Given the description of an element on the screen output the (x, y) to click on. 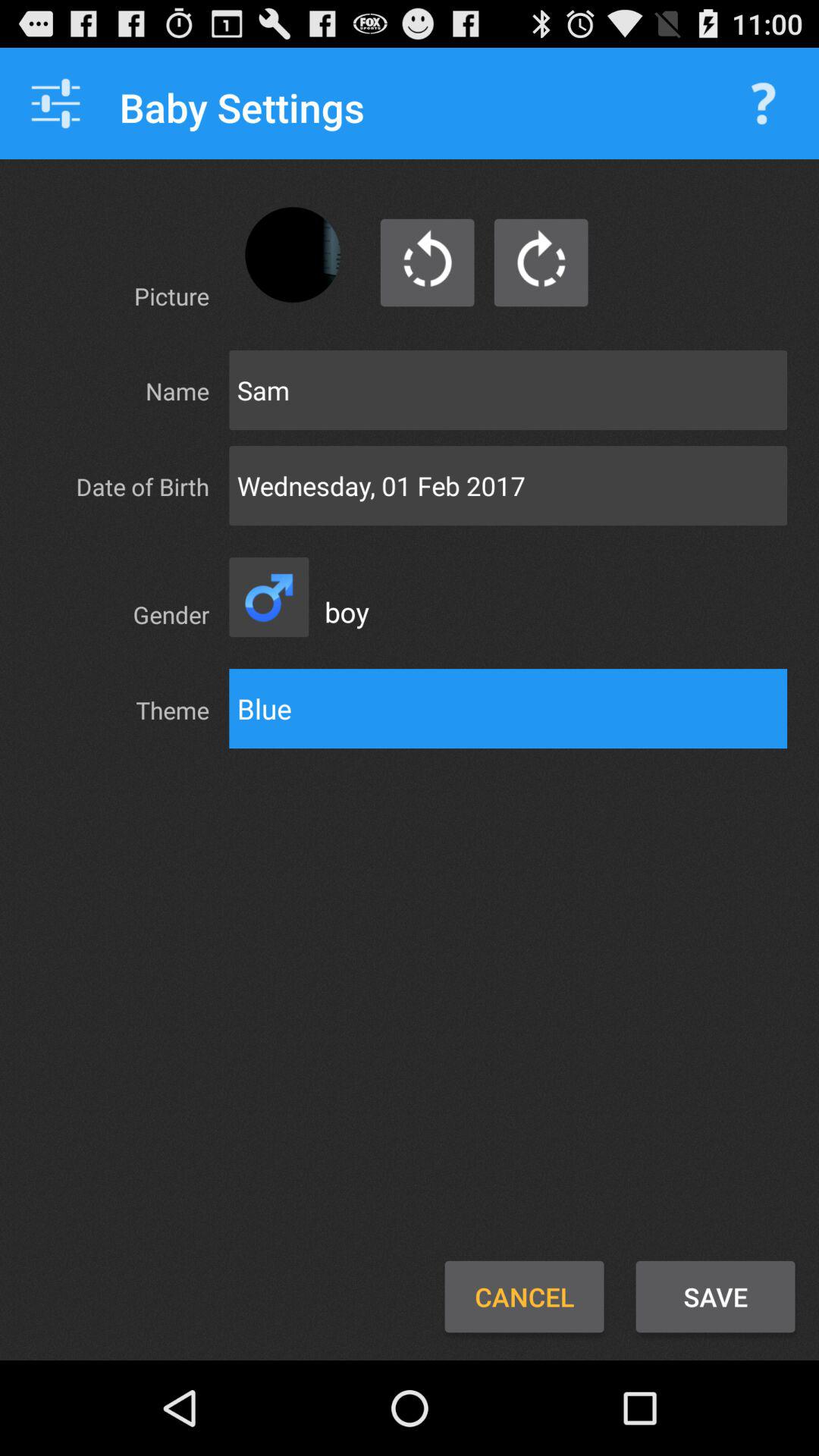
refreshing option (427, 262)
